Given the description of an element on the screen output the (x, y) to click on. 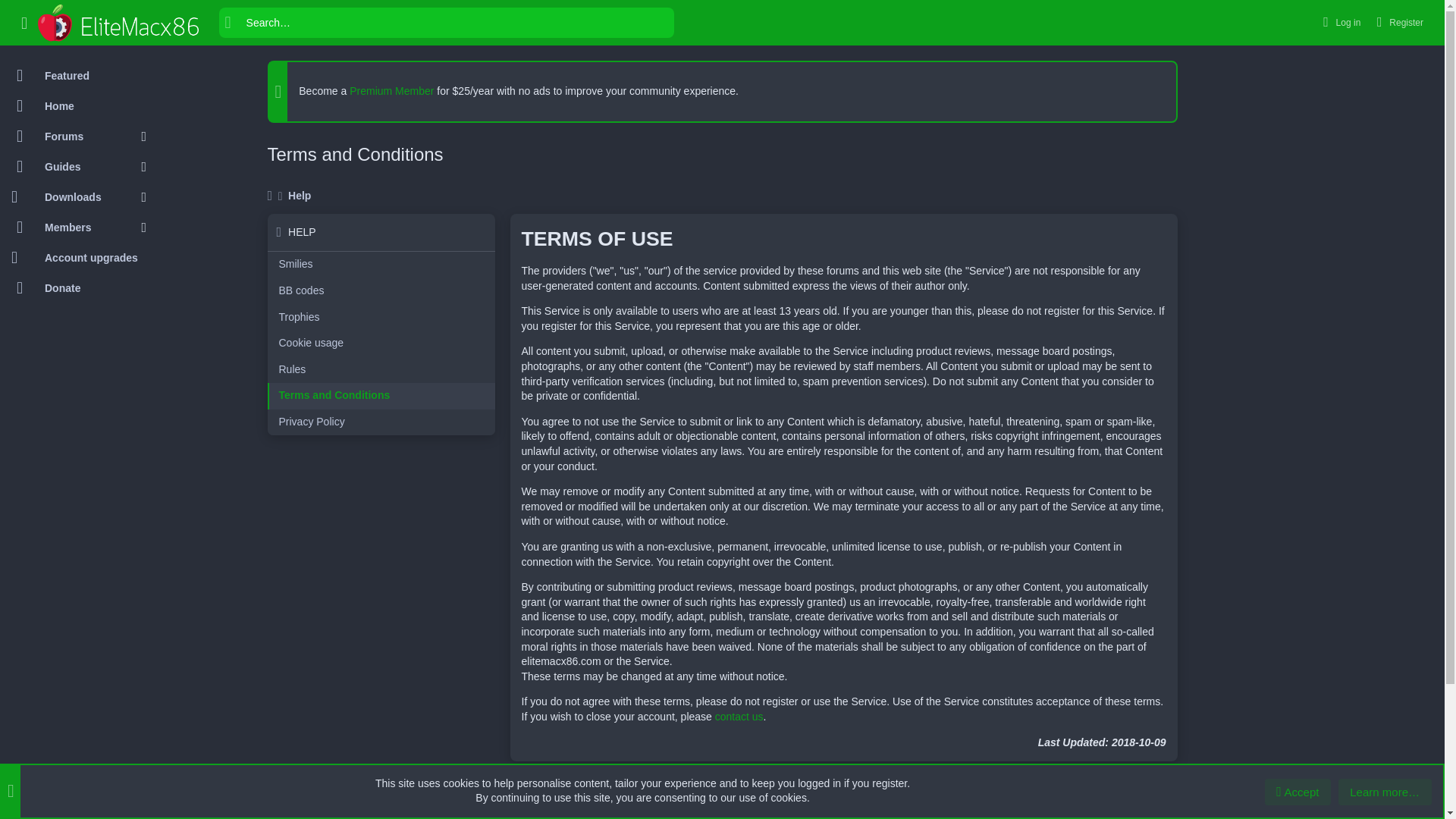
Forums (70, 136)
Featured (78, 75)
Guides (70, 166)
Home (78, 105)
Register (1398, 21)
Log in (1340, 21)
